Given the description of an element on the screen output the (x, y) to click on. 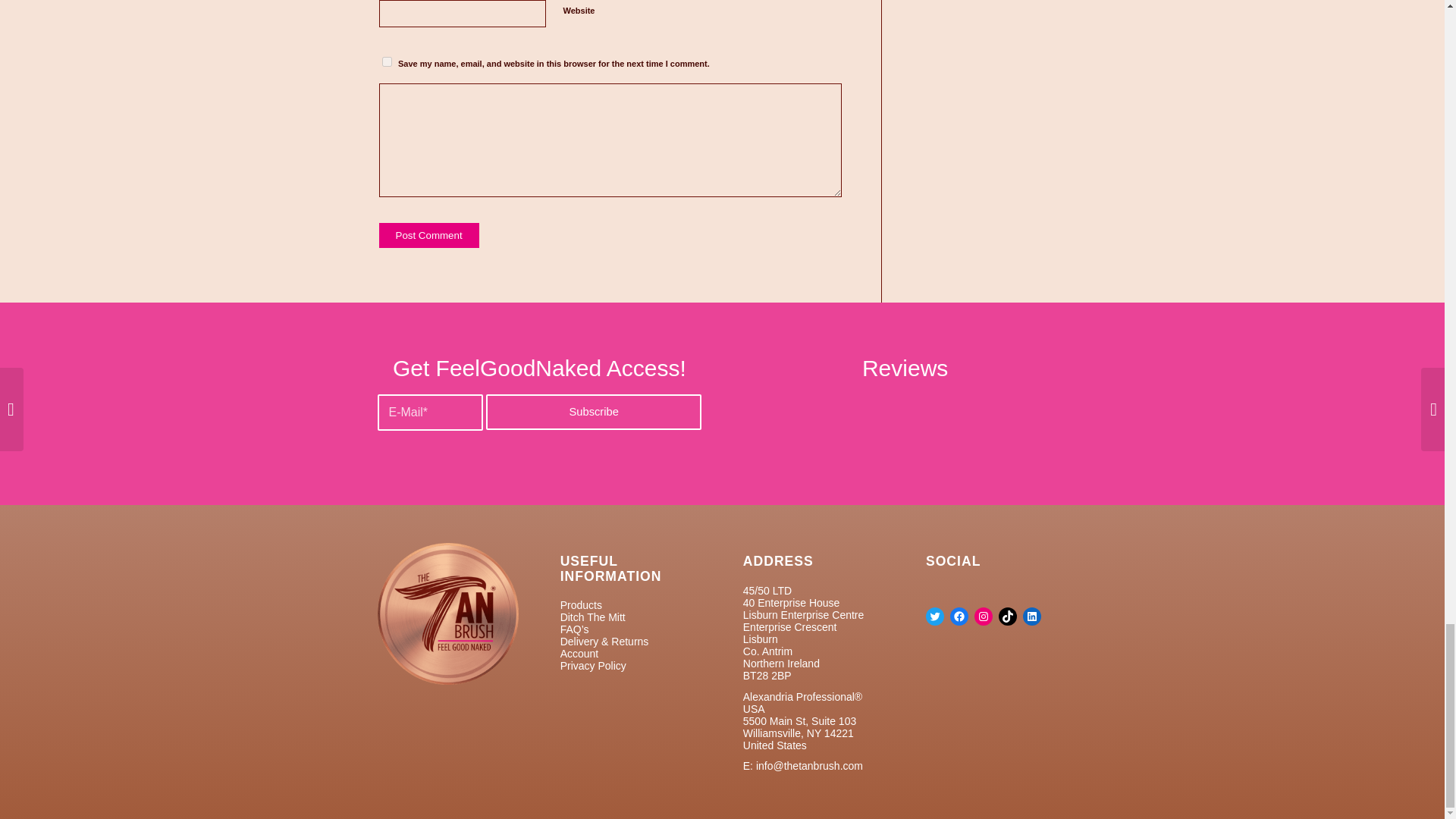
yes (386, 61)
Subscribe (593, 411)
Post Comment (428, 235)
